Given the description of an element on the screen output the (x, y) to click on. 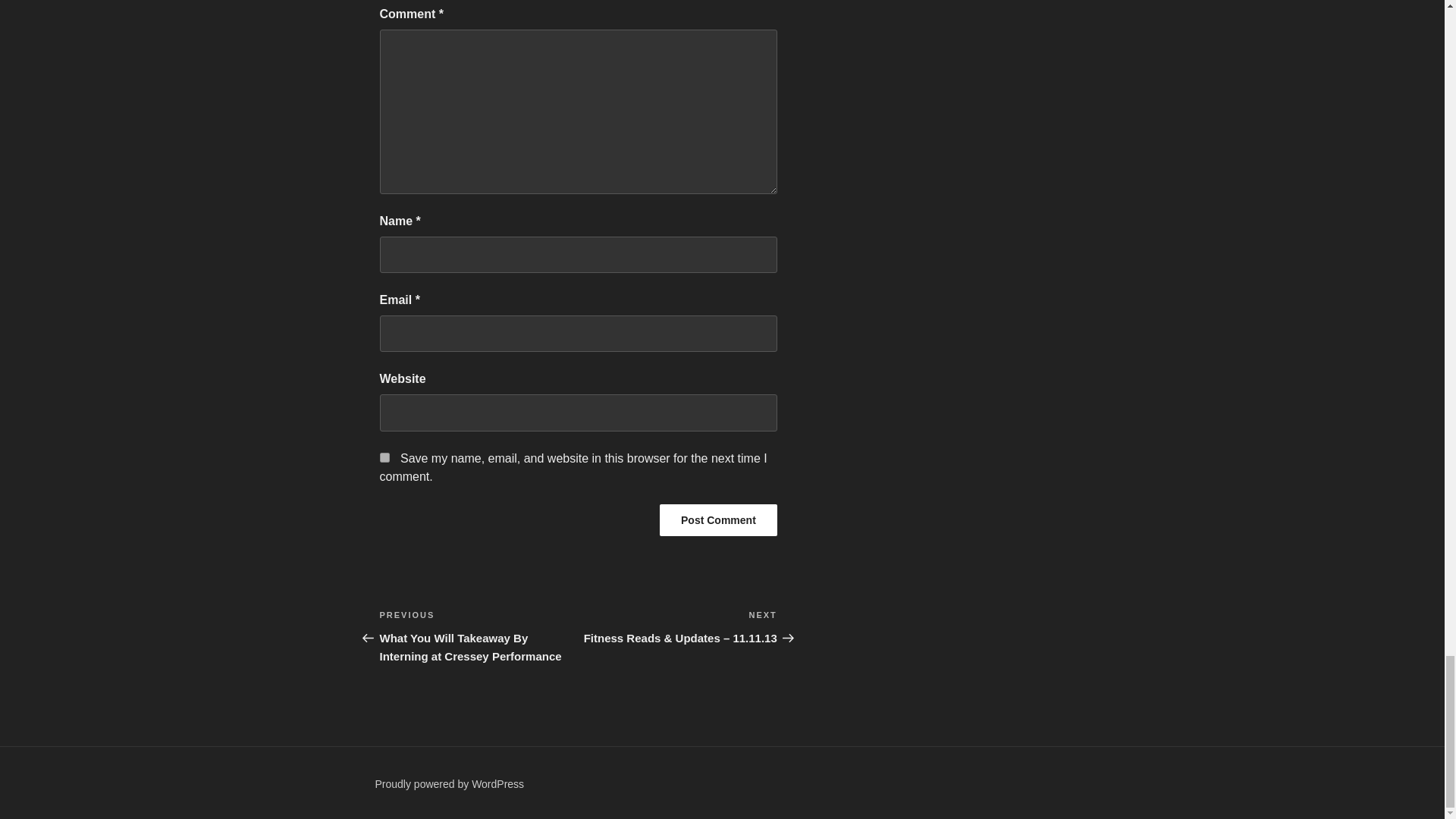
Post Comment (718, 520)
Proudly powered by WordPress (449, 784)
yes (383, 457)
Post Comment (718, 520)
